Given the description of an element on the screen output the (x, y) to click on. 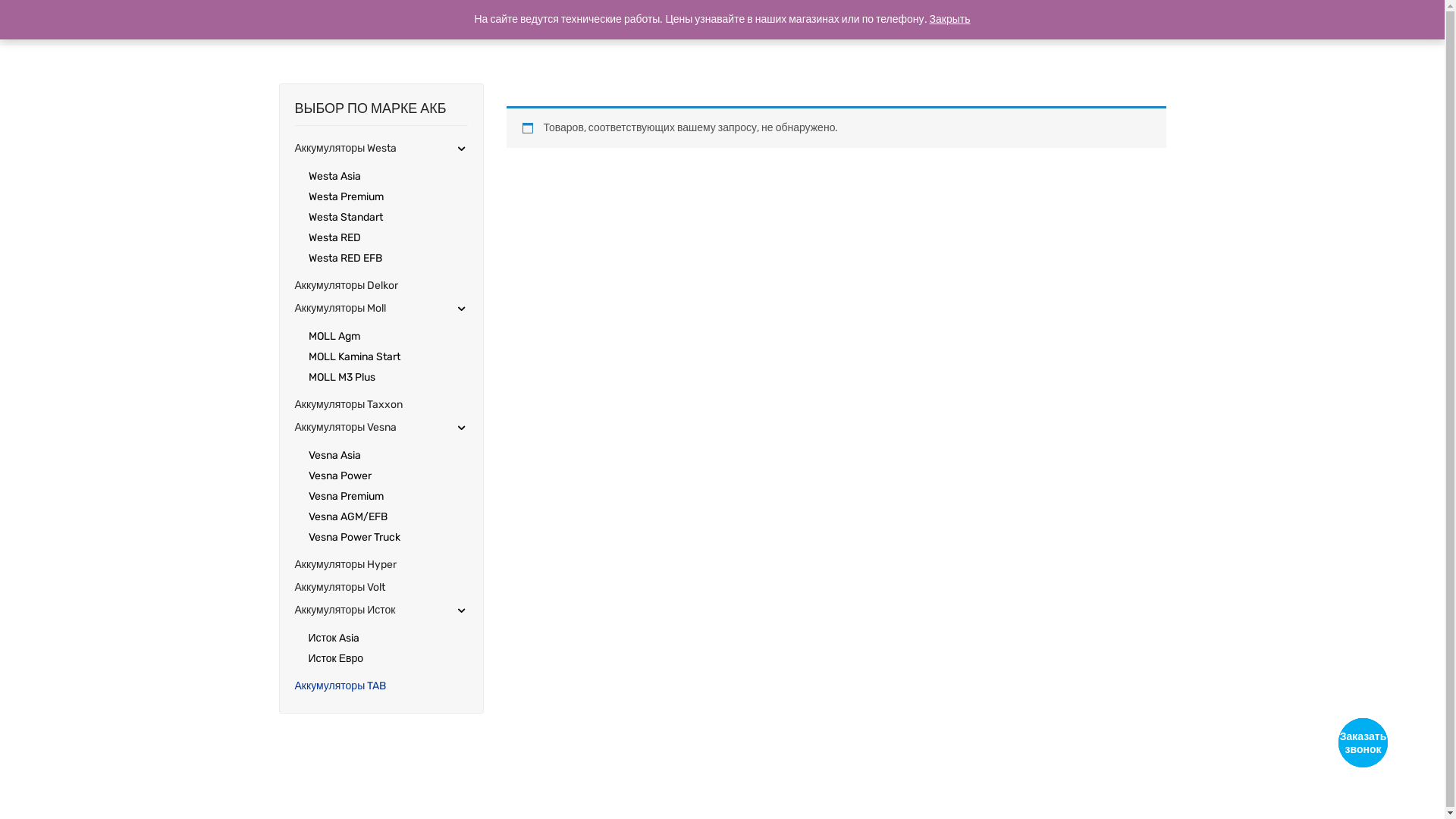
MOLL Agm Element type: text (333, 336)
Vesna AGM/EFB Element type: text (346, 516)
MOLL Kamina Start Element type: text (353, 356)
Westa RED Element type: text (333, 237)
Westa Asia Element type: text (333, 176)
Westa Standart Element type: text (344, 217)
Vesna Asia Element type: text (333, 455)
MOLL M3 Plus Element type: text (340, 377)
Westa Premium Element type: text (344, 196)
Vesna Power Truck Element type: text (353, 537)
Vesna Power Element type: text (338, 475)
Westa RED EFB Element type: text (344, 257)
Vesna Premium Element type: text (344, 496)
